Given the description of an element on the screen output the (x, y) to click on. 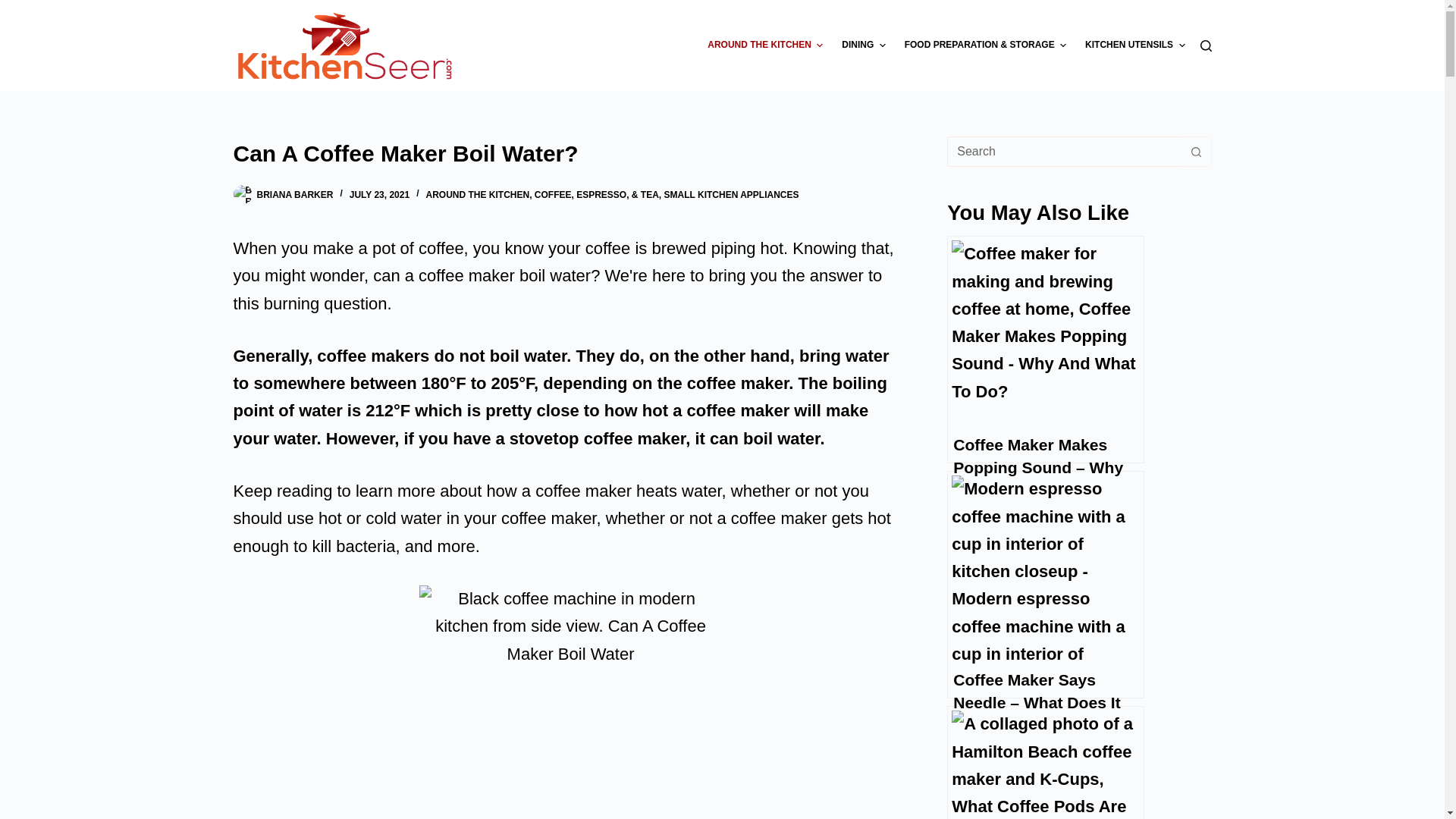
Skip to content (15, 7)
Posts by Briana Barker (294, 194)
Search for... (1063, 151)
Can A Coffee Maker Boil Water? (570, 153)
What Coffee Pods Are Compatible With Hamilton Beach? (1045, 762)
